Given the description of an element on the screen output the (x, y) to click on. 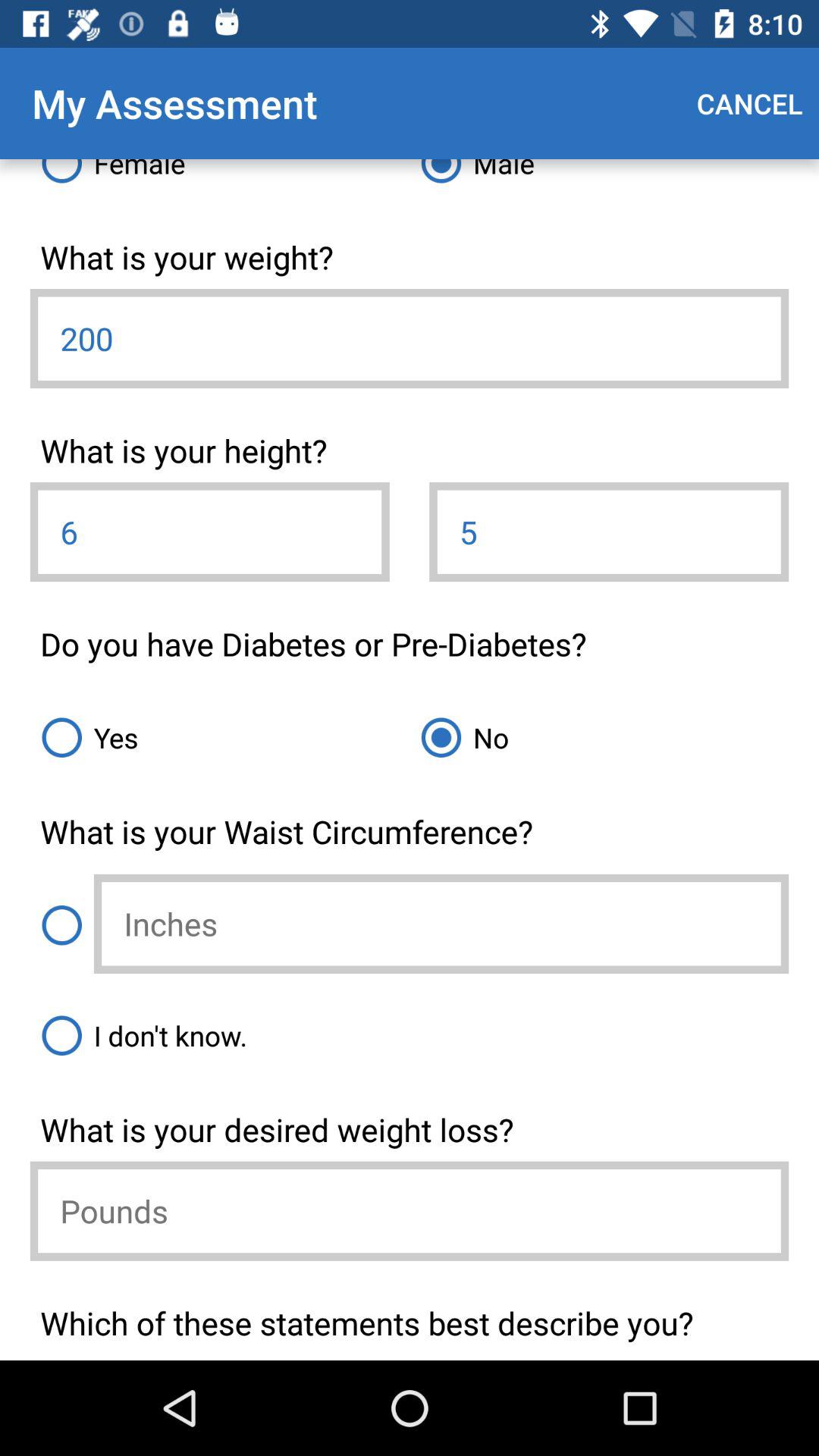
launch the item above what is your item (219, 737)
